Given the description of an element on the screen output the (x, y) to click on. 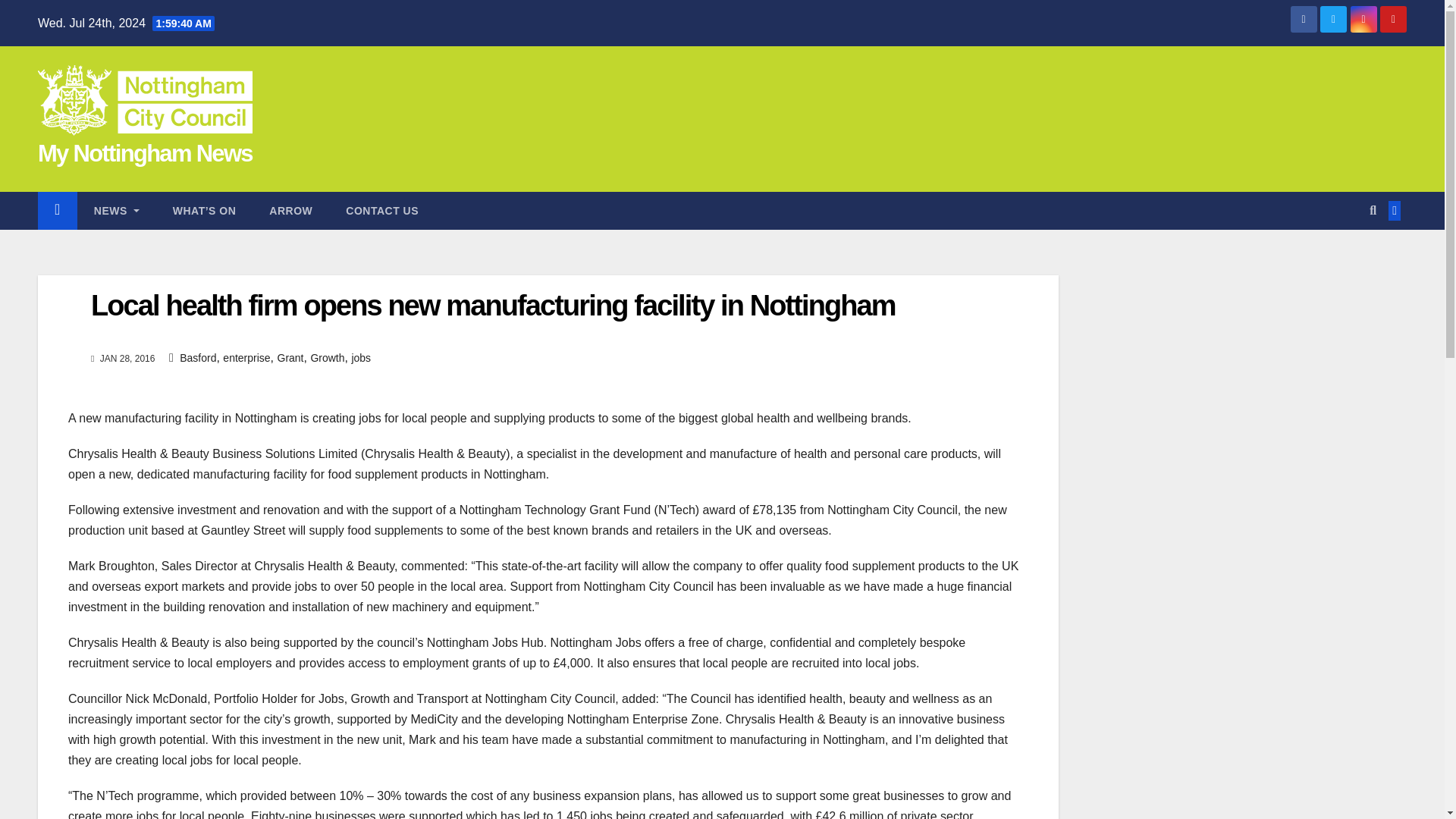
Grant (291, 357)
NEWS (116, 210)
News (116, 210)
ARROW (290, 210)
My Nottingham News (144, 153)
enterprise (245, 357)
Growth (326, 357)
CONTACT US (382, 210)
What's On (204, 210)
Basford (197, 357)
